Given the description of an element on the screen output the (x, y) to click on. 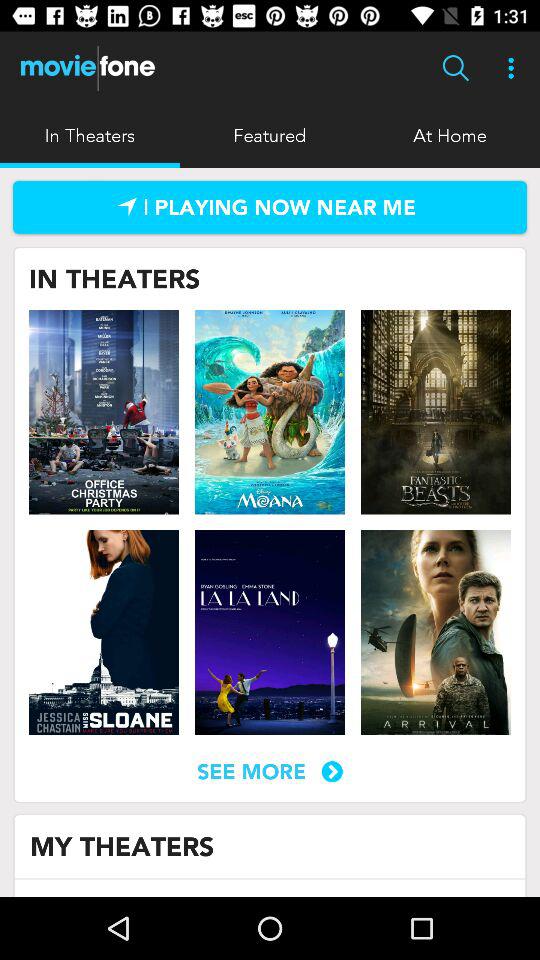
click the item at the bottom left corner (122, 846)
